Given the description of an element on the screen output the (x, y) to click on. 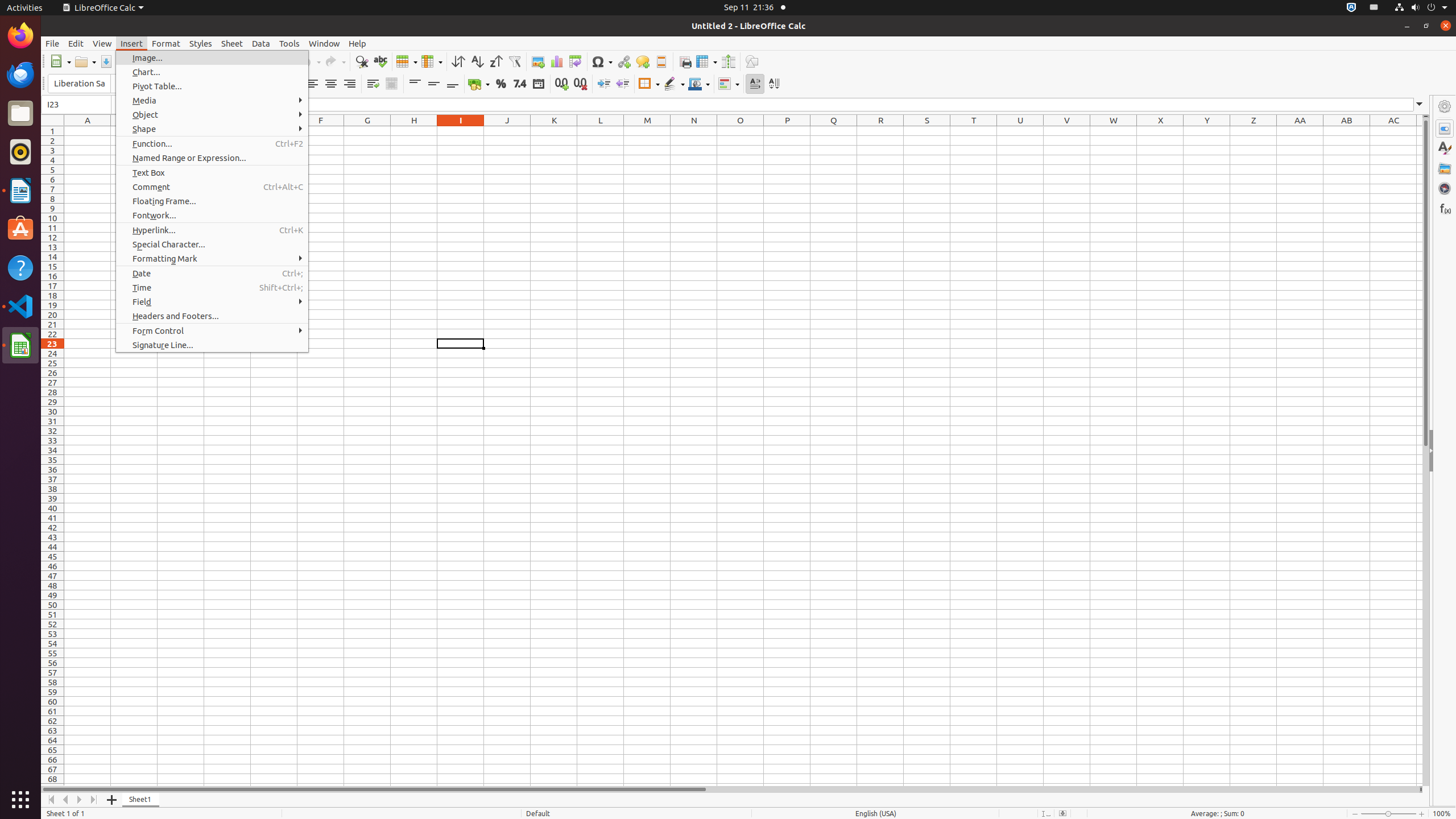
Split Window Element type: push-button (727, 61)
R1 Element type: table-cell (880, 130)
T1 Element type: table-cell (973, 130)
X1 Element type: table-cell (1159, 130)
New Element type: push-button (59, 61)
